Given the description of an element on the screen output the (x, y) to click on. 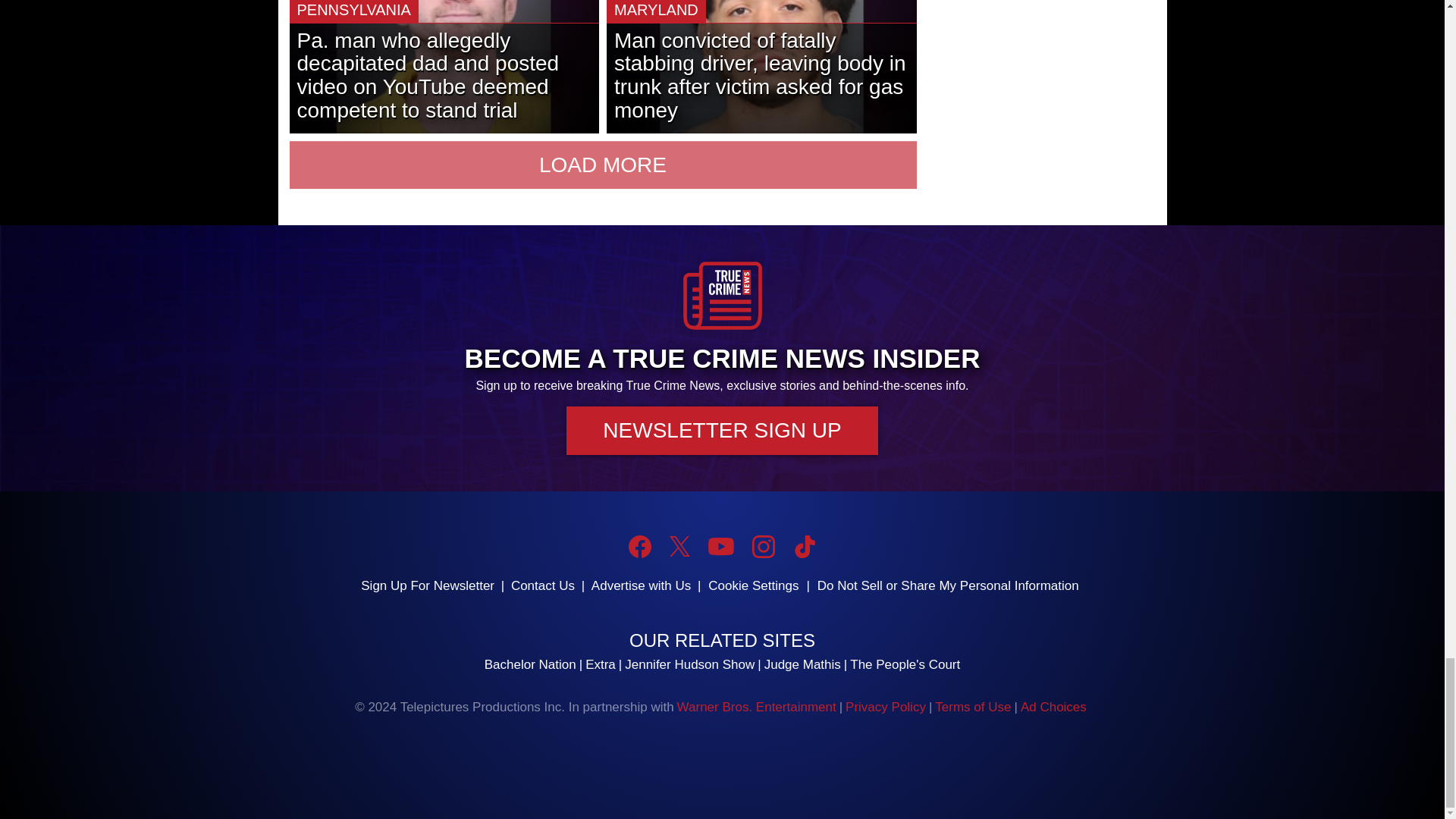
YouTube (720, 546)
Facebook (639, 546)
Twitter (679, 546)
Instagram (763, 546)
TikTok (804, 546)
